Given the description of an element on the screen output the (x, y) to click on. 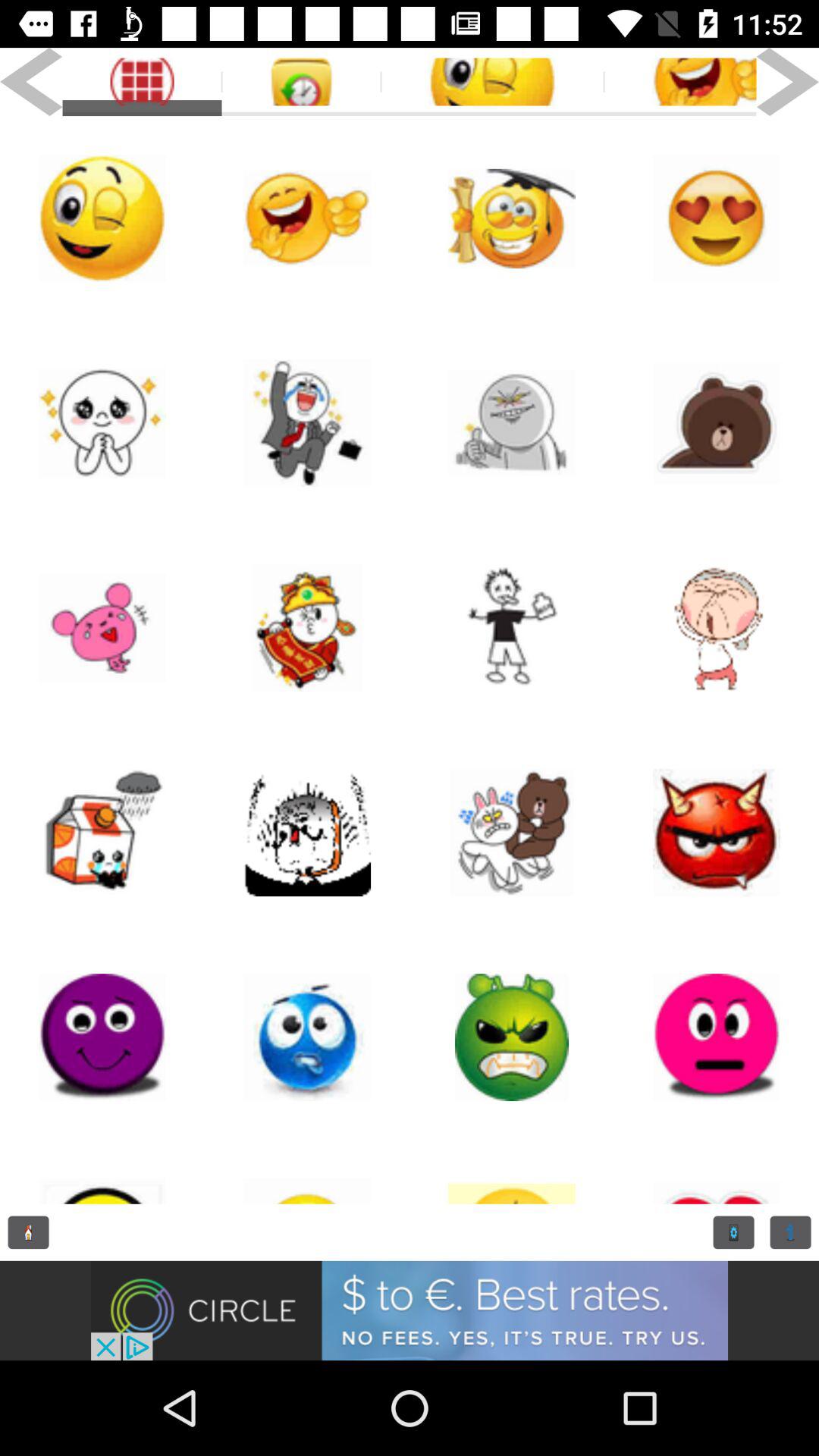
select emoji (306, 1037)
